Given the description of an element on the screen output the (x, y) to click on. 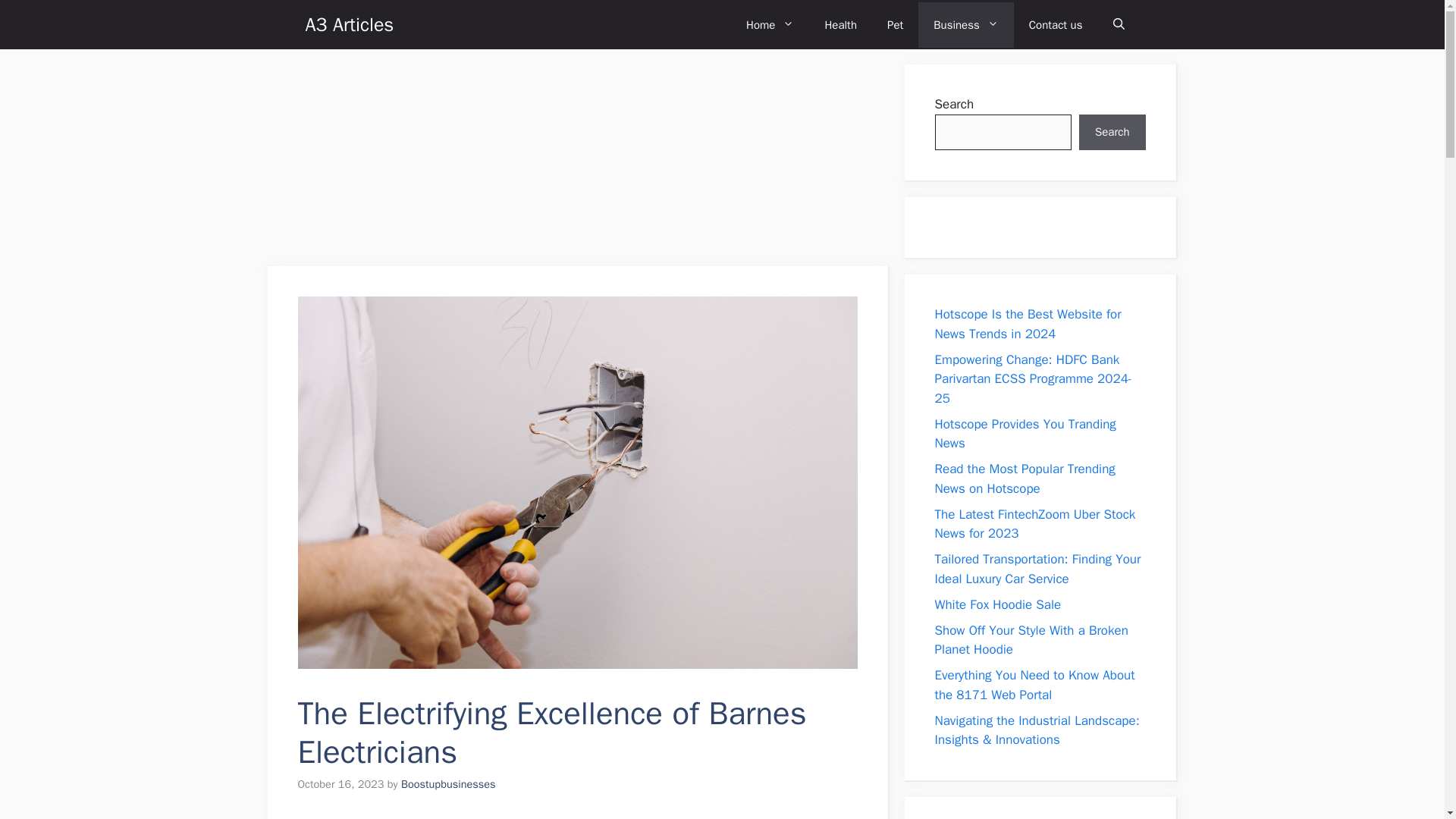
View all posts by Boostupbusinesses (448, 784)
Health (840, 23)
A3 Articles (348, 24)
Boostupbusinesses (448, 784)
Contact us (1055, 23)
White Fox Hoodie Sale (997, 603)
Business (965, 23)
The Latest FintechZoom Uber Stock News for 2023 (1034, 524)
Read the Most Popular Trending News on Hotscope (1024, 478)
Home (769, 23)
Hotscope Is the Best Website for News Trends in 2024 (1027, 324)
Everything You Need to Know About the 8171 Web Portal (1034, 684)
Show Off Your Style With a Broken Planet Hoodie (1030, 639)
